Given the description of an element on the screen output the (x, y) to click on. 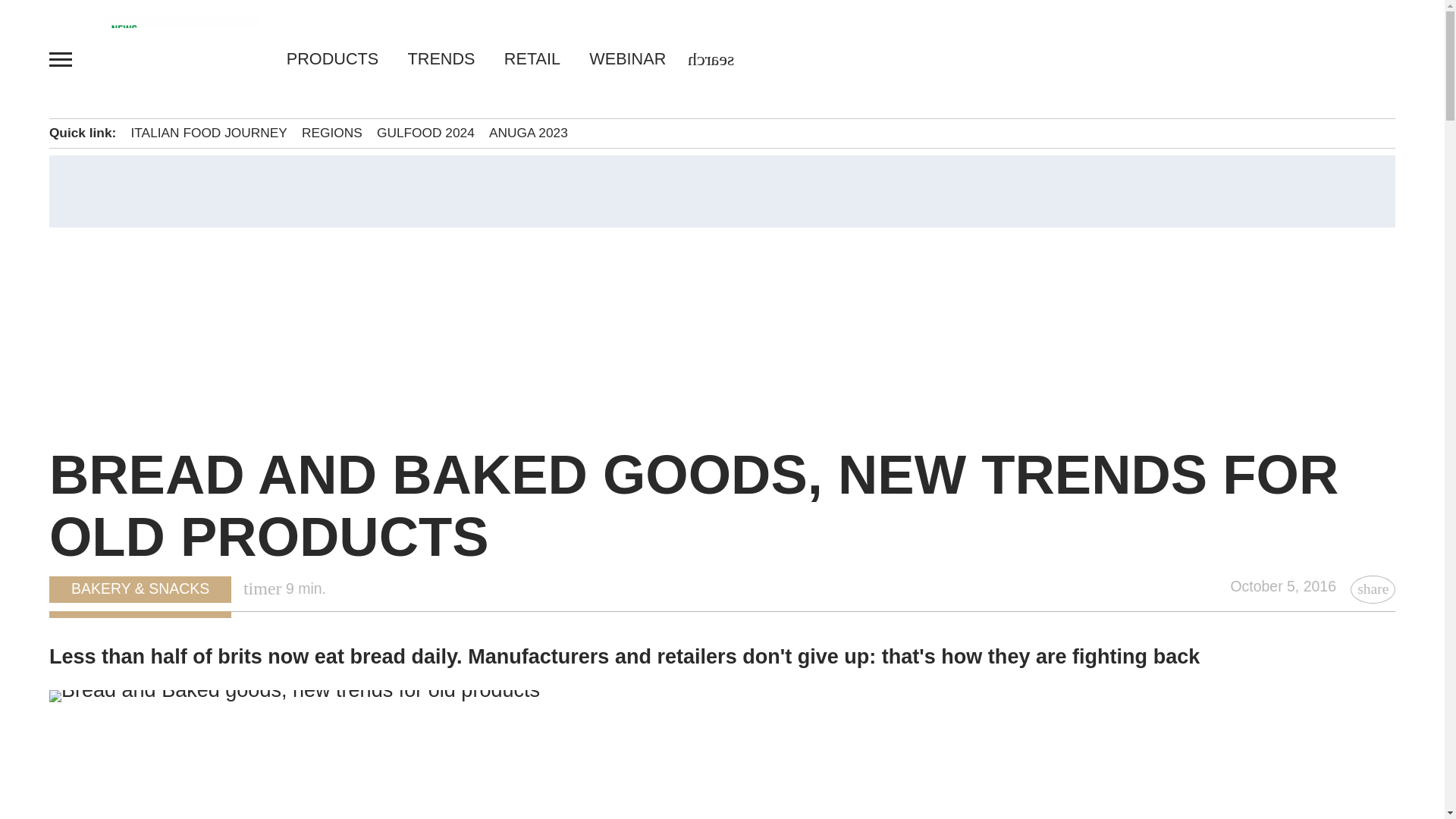
TRENDS (441, 58)
WEBINAR (620, 58)
Search (42, 17)
PRODUCTS (339, 58)
RETAIL (532, 58)
